Given the description of an element on the screen output the (x, y) to click on. 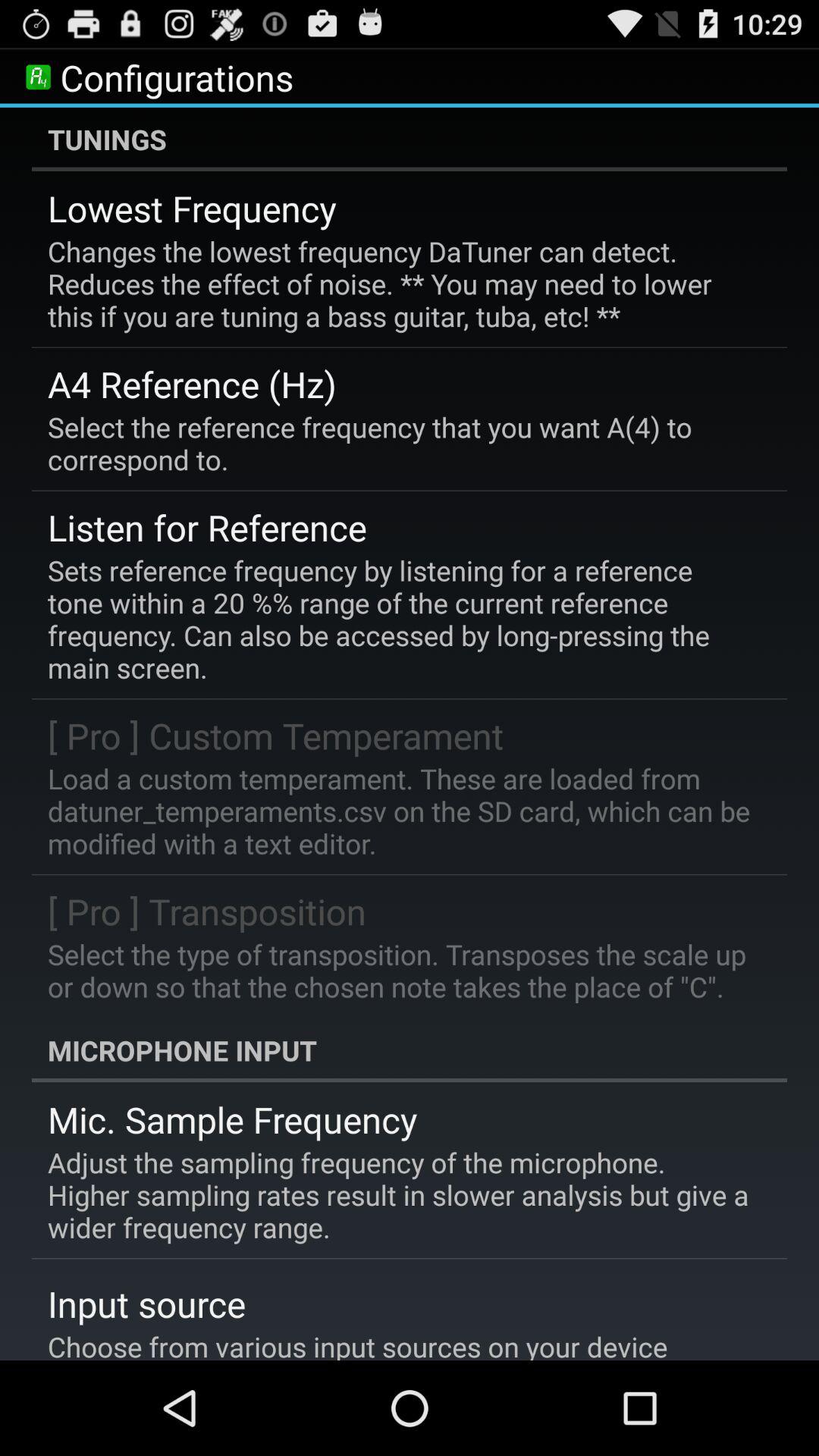
open a4 reference (hz) (191, 384)
